Given the description of an element on the screen output the (x, y) to click on. 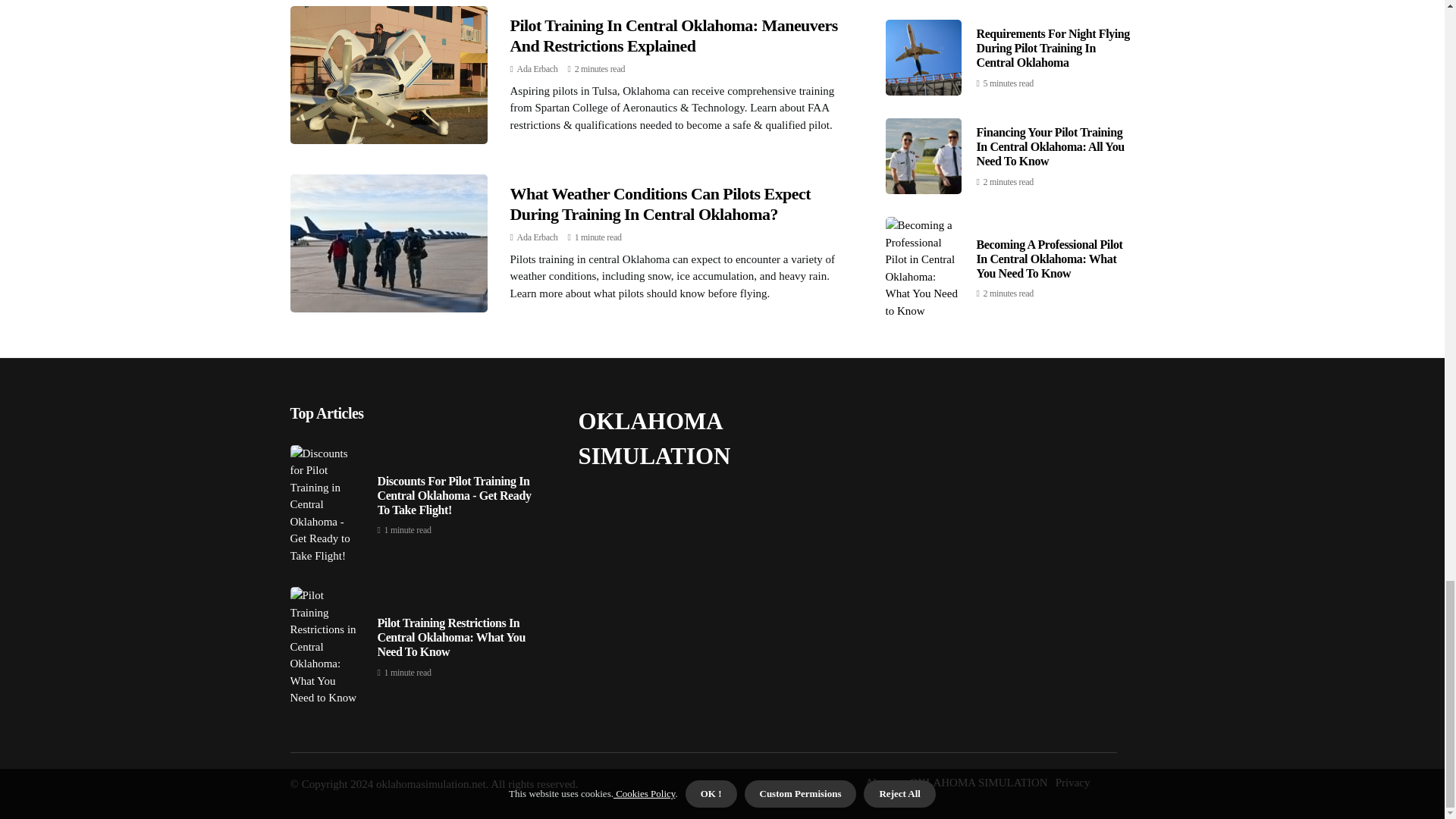
Ada Erbach (536, 68)
Posts by Ada Erbach (536, 236)
Posts by Ada Erbach (536, 68)
Ada Erbach (536, 236)
